Given the description of an element on the screen output the (x, y) to click on. 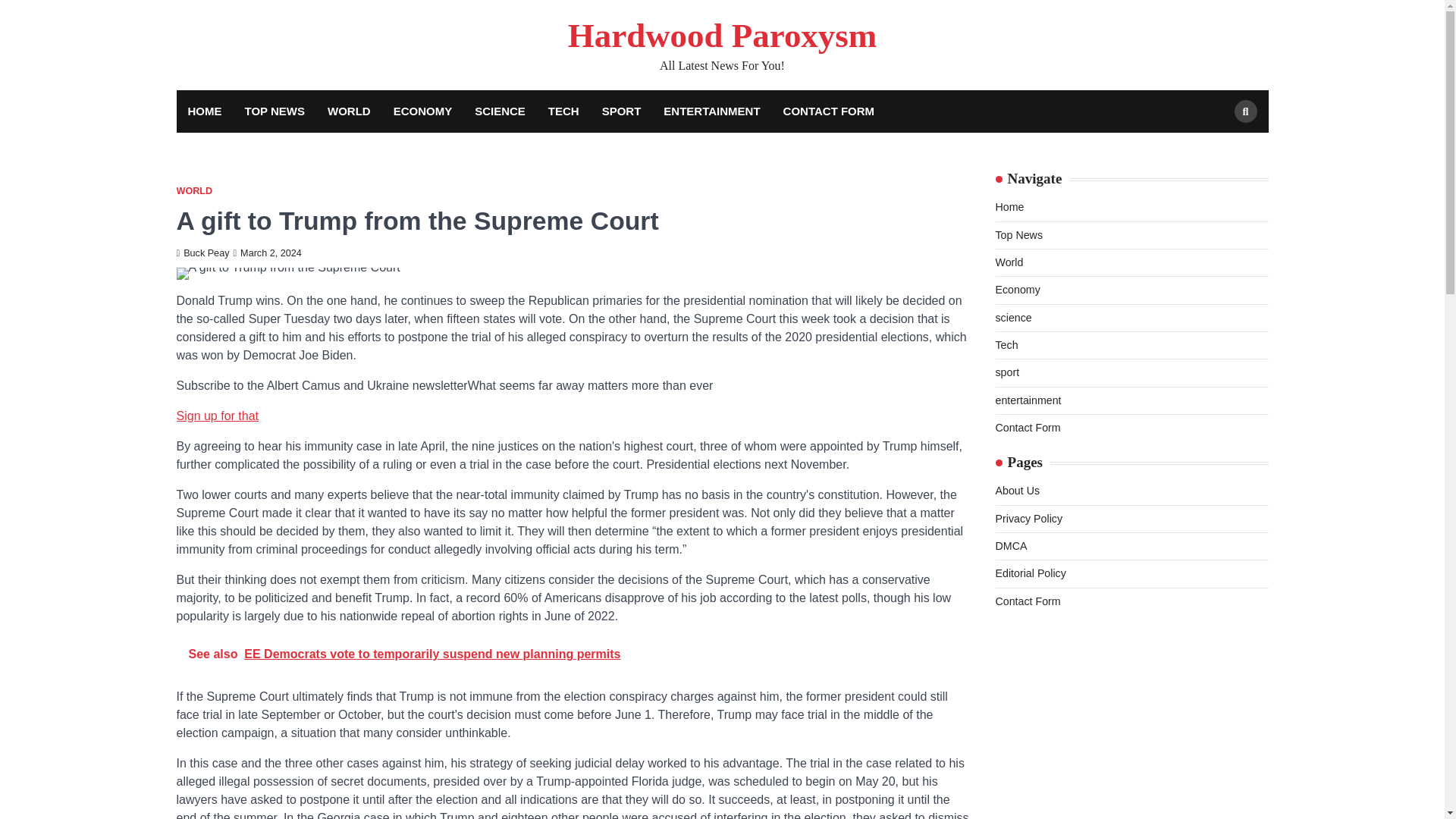
TECH (564, 111)
entertainment (1027, 399)
Buck Peay (202, 253)
About Us (1016, 490)
March 2, 2024 (266, 253)
SPORT (621, 111)
ENTERTAINMENT (711, 111)
WORLD (194, 191)
Contact Form (1026, 427)
